Given the description of an element on the screen output the (x, y) to click on. 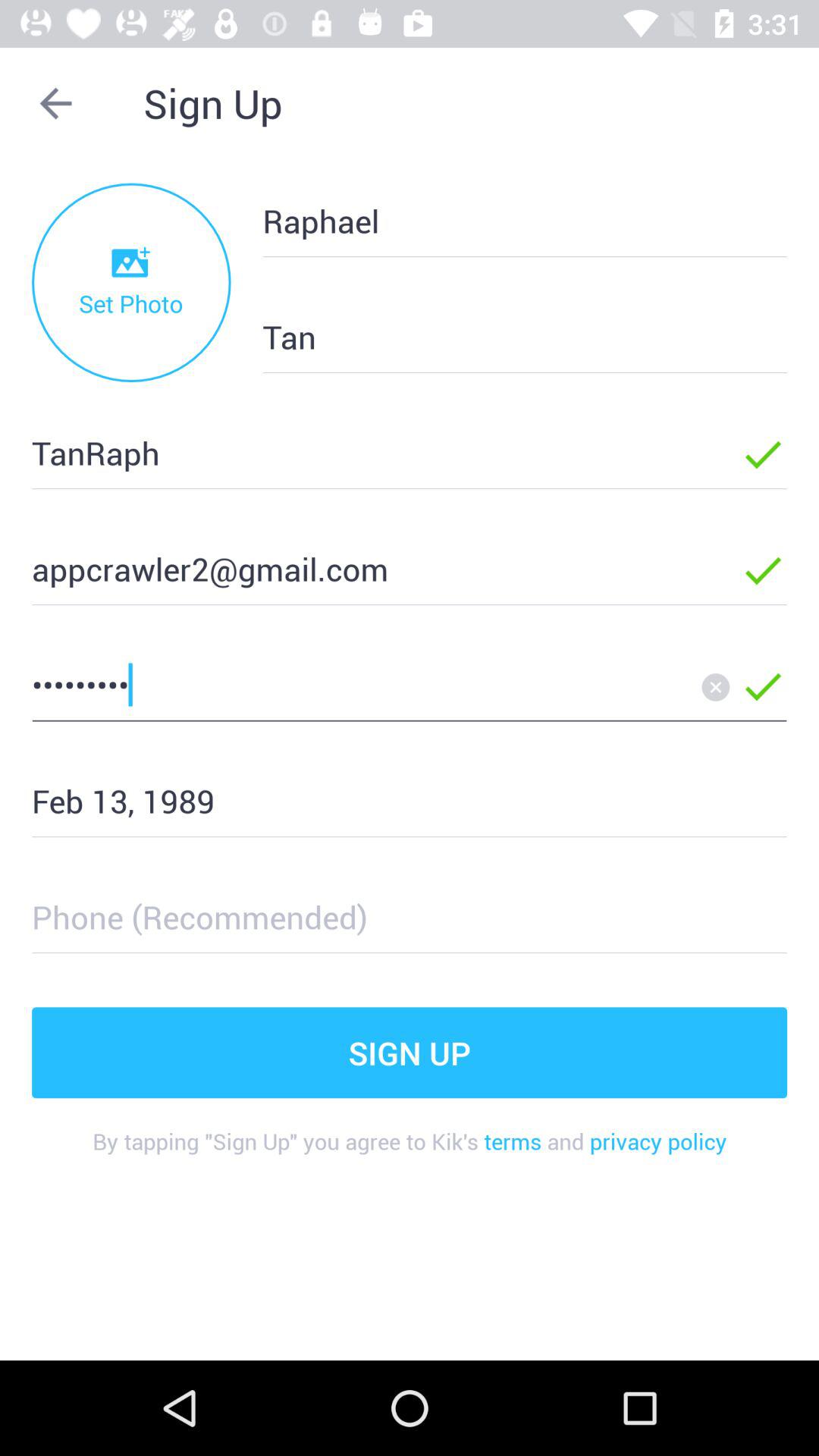
turn on the appcrawler2@gmail.com (361, 568)
